Given the description of an element on the screen output the (x, y) to click on. 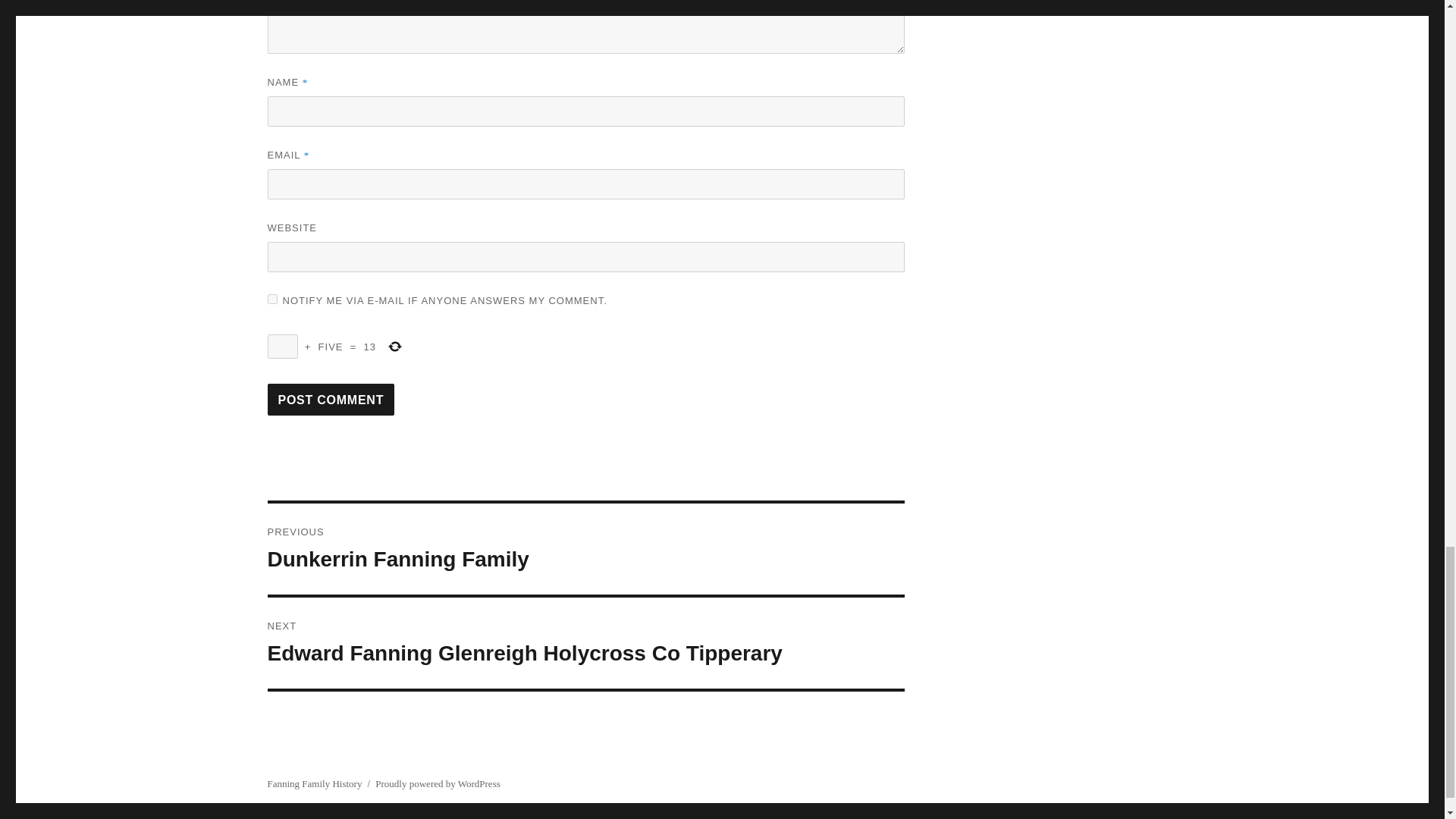
on (271, 298)
Post Comment (330, 399)
